Given the description of an element on the screen output the (x, y) to click on. 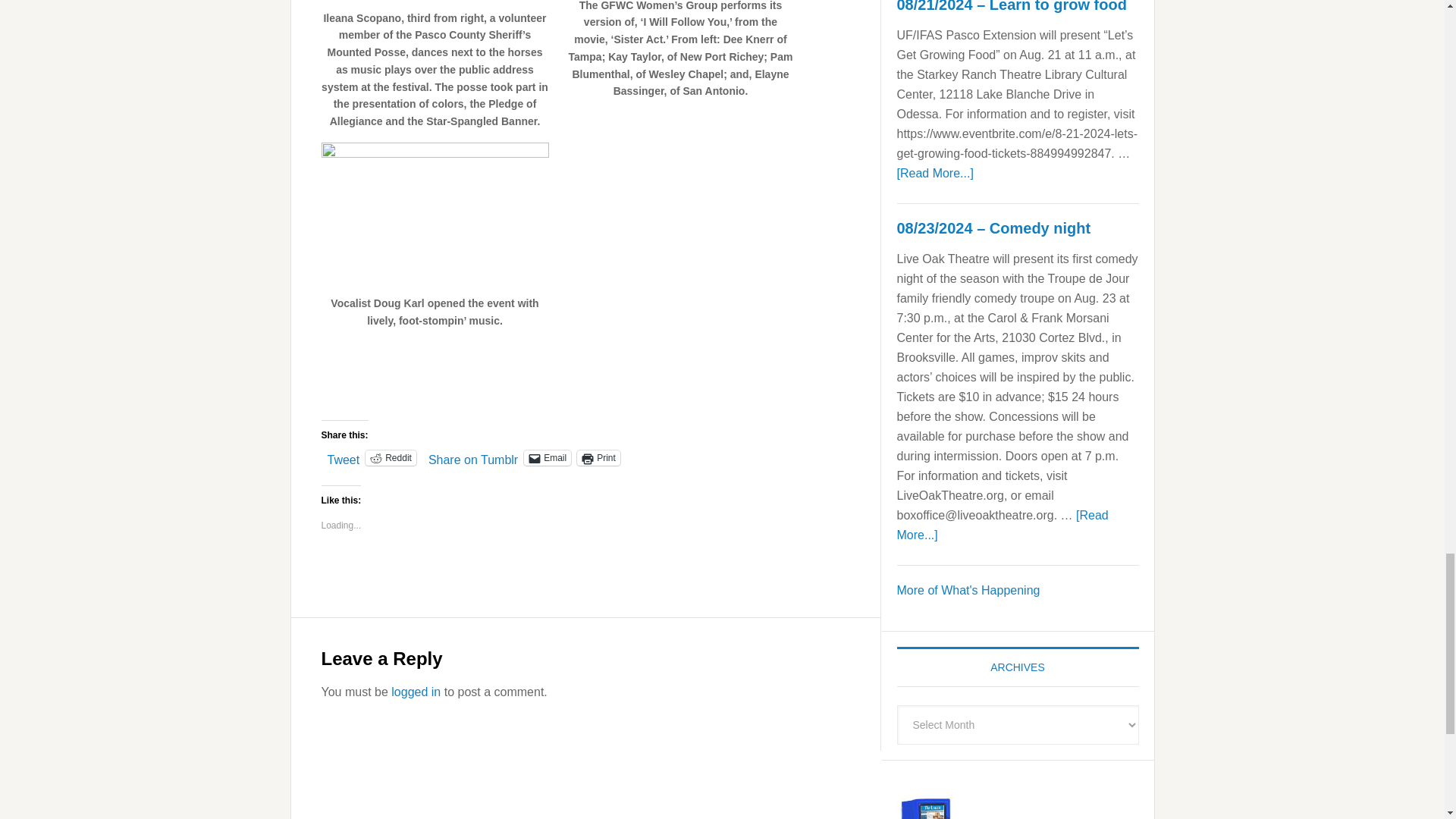
Click to print (598, 458)
Click to share on Reddit (390, 458)
Share on Tumblr (473, 457)
Click to email a link to a friend (547, 458)
What's Happening (967, 590)
